Given the description of an element on the screen output the (x, y) to click on. 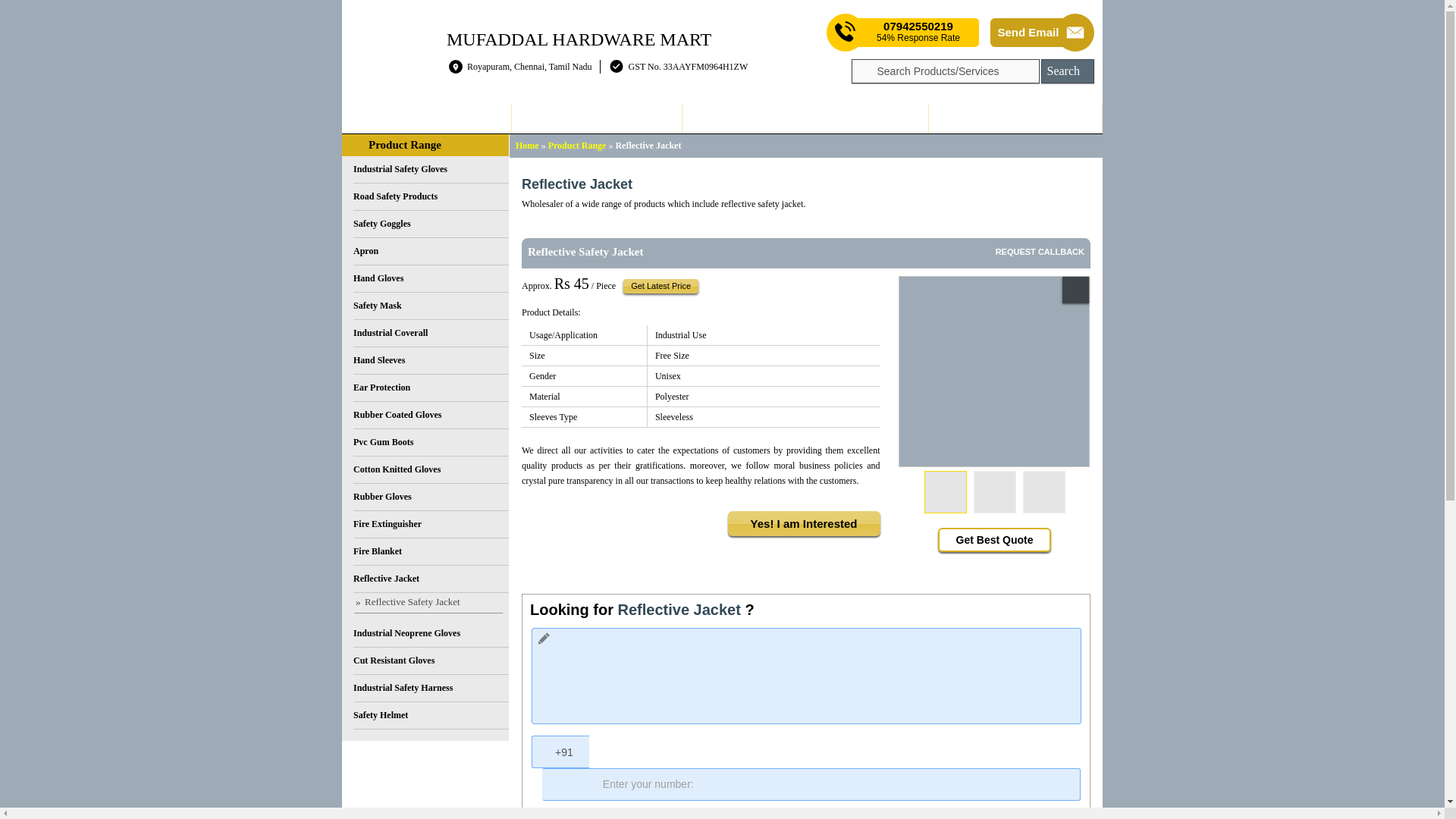
Product Range (577, 145)
Enter your number: (810, 784)
Product Range (805, 118)
About Us (596, 118)
Road Safety Products (430, 196)
Enter your name: (806, 815)
Hand Gloves (430, 278)
Home (426, 118)
Safety Mask (430, 306)
MUFADDAL HARDWARE MART (578, 38)
Product Range (404, 144)
Safety Goggles (430, 224)
Industrial Safety Gloves (430, 169)
Send SMS Free (917, 32)
Home (526, 145)
